Given the description of an element on the screen output the (x, y) to click on. 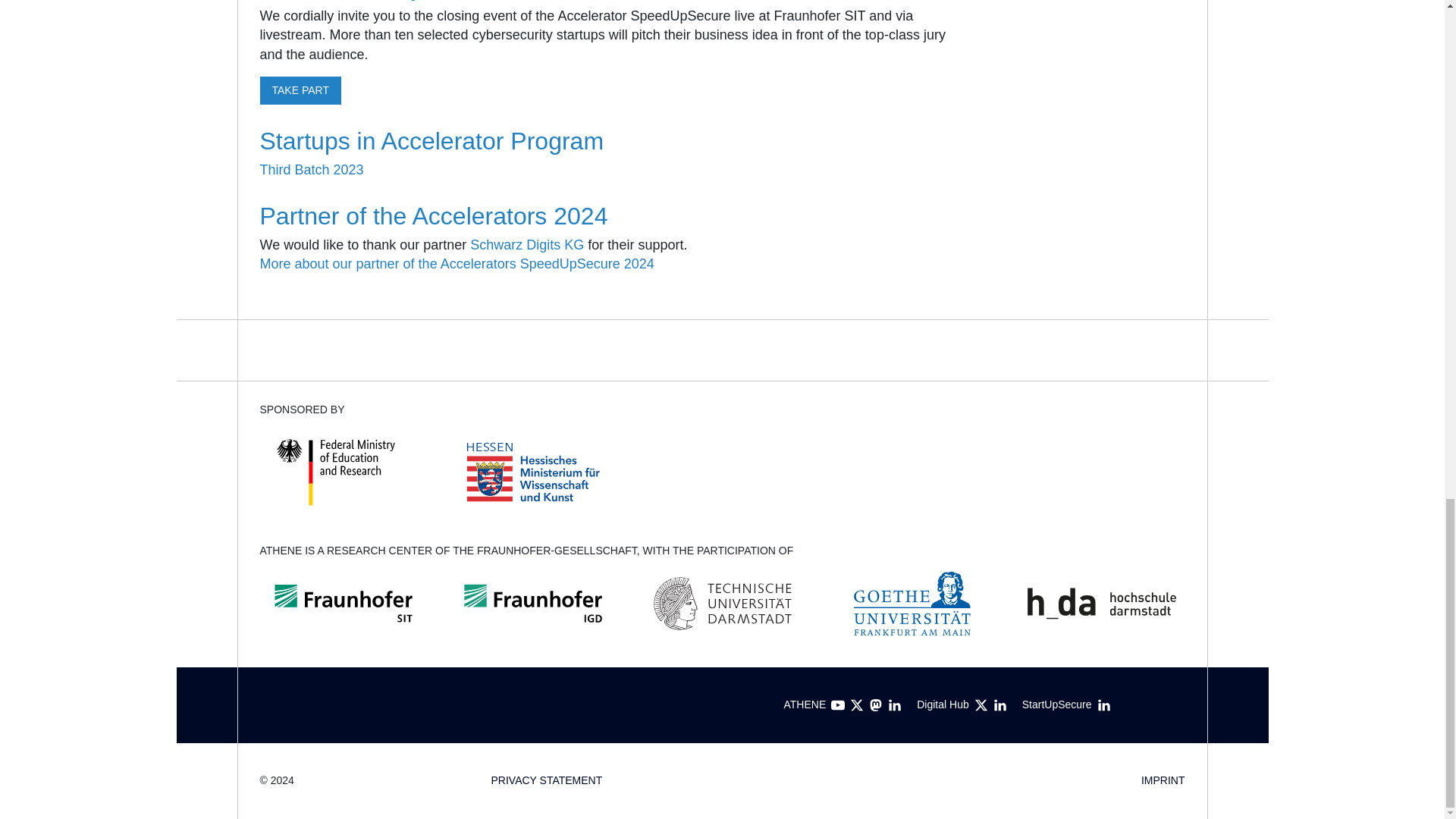
YouTube (837, 704)
LinkedIn (999, 704)
LinkedIn (894, 704)
Mastodon (875, 704)
Twitter (856, 704)
LinkedIn (1103, 704)
Twitter (981, 704)
